Given the description of an element on the screen output the (x, y) to click on. 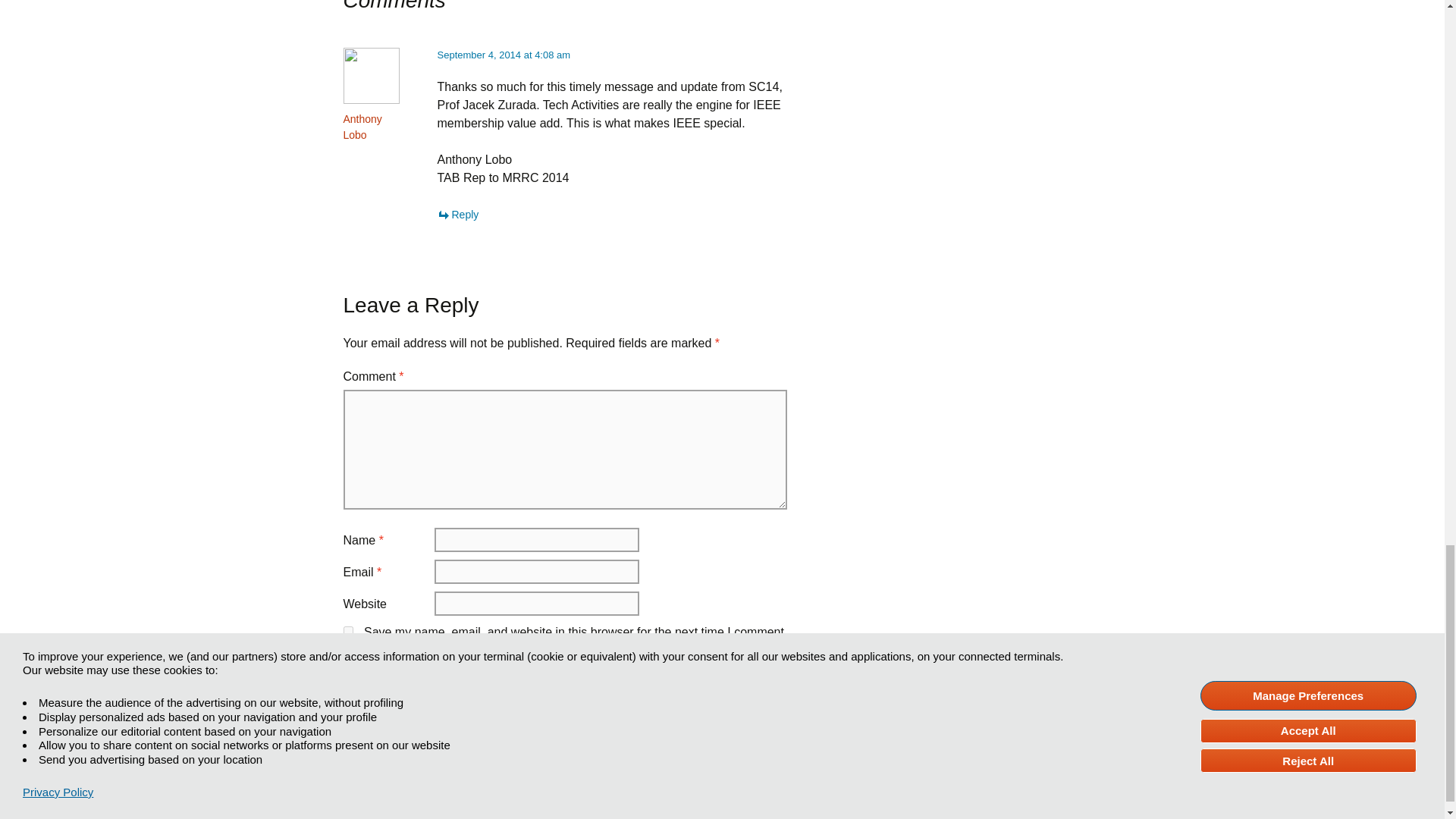
yes (347, 631)
Post Comment (390, 672)
